Given the description of an element on the screen output the (x, y) to click on. 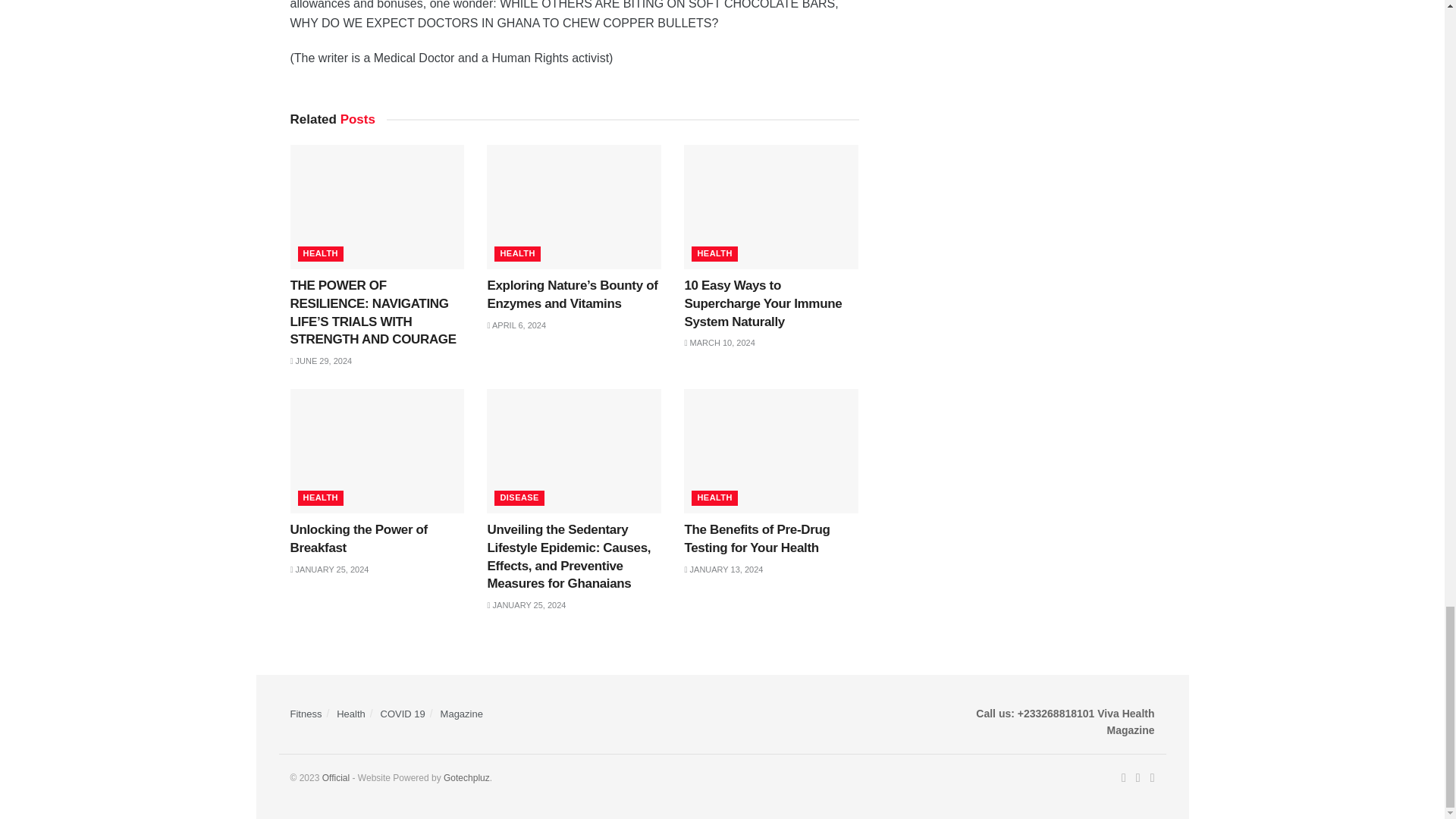
Viva health Magazine (336, 777)
Jegtheme (466, 777)
